Given the description of an element on the screen output the (x, y) to click on. 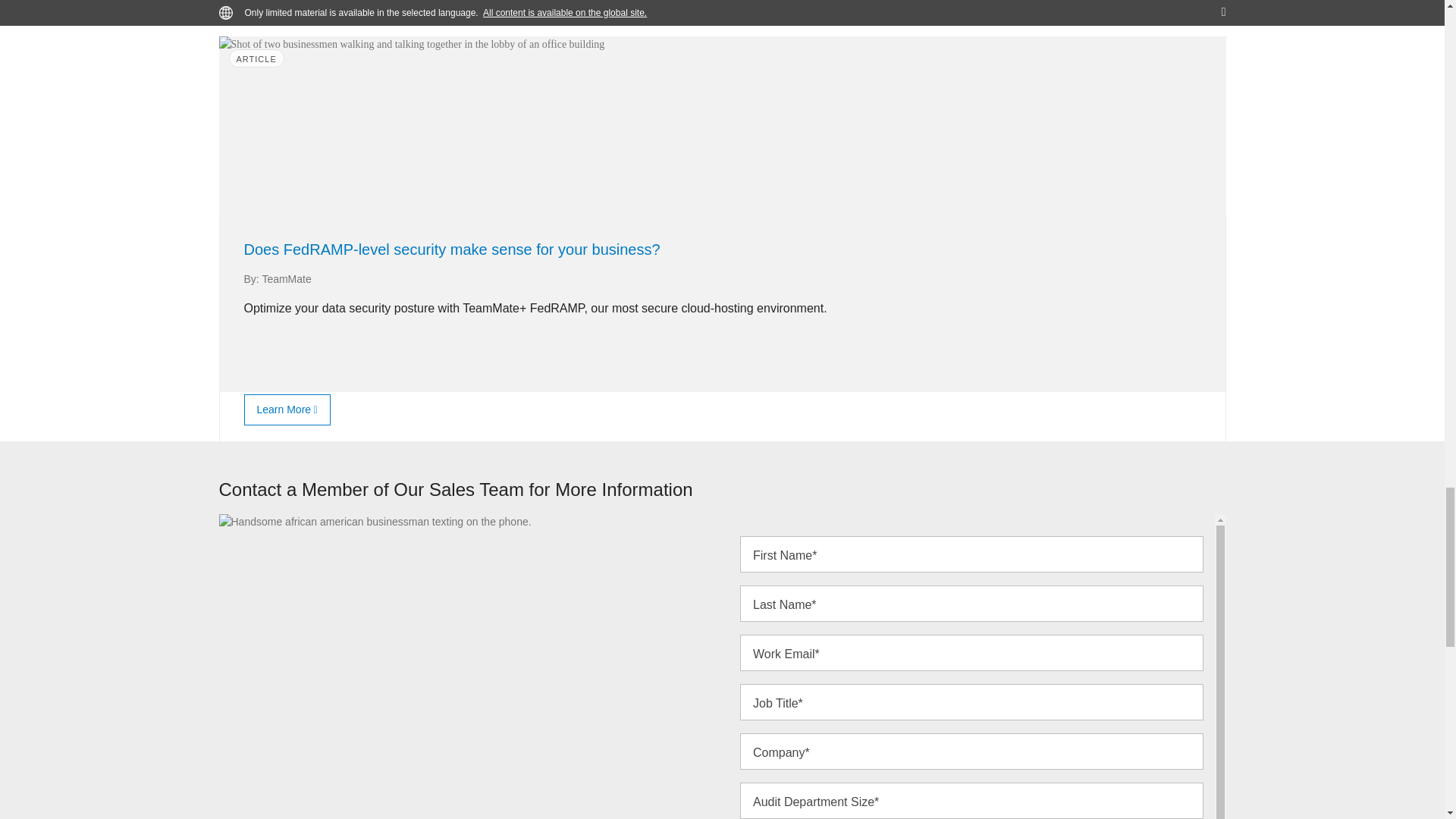
does-fedramp-level-security-make-sense-for-your-business (283, 409)
